Given the description of an element on the screen output the (x, y) to click on. 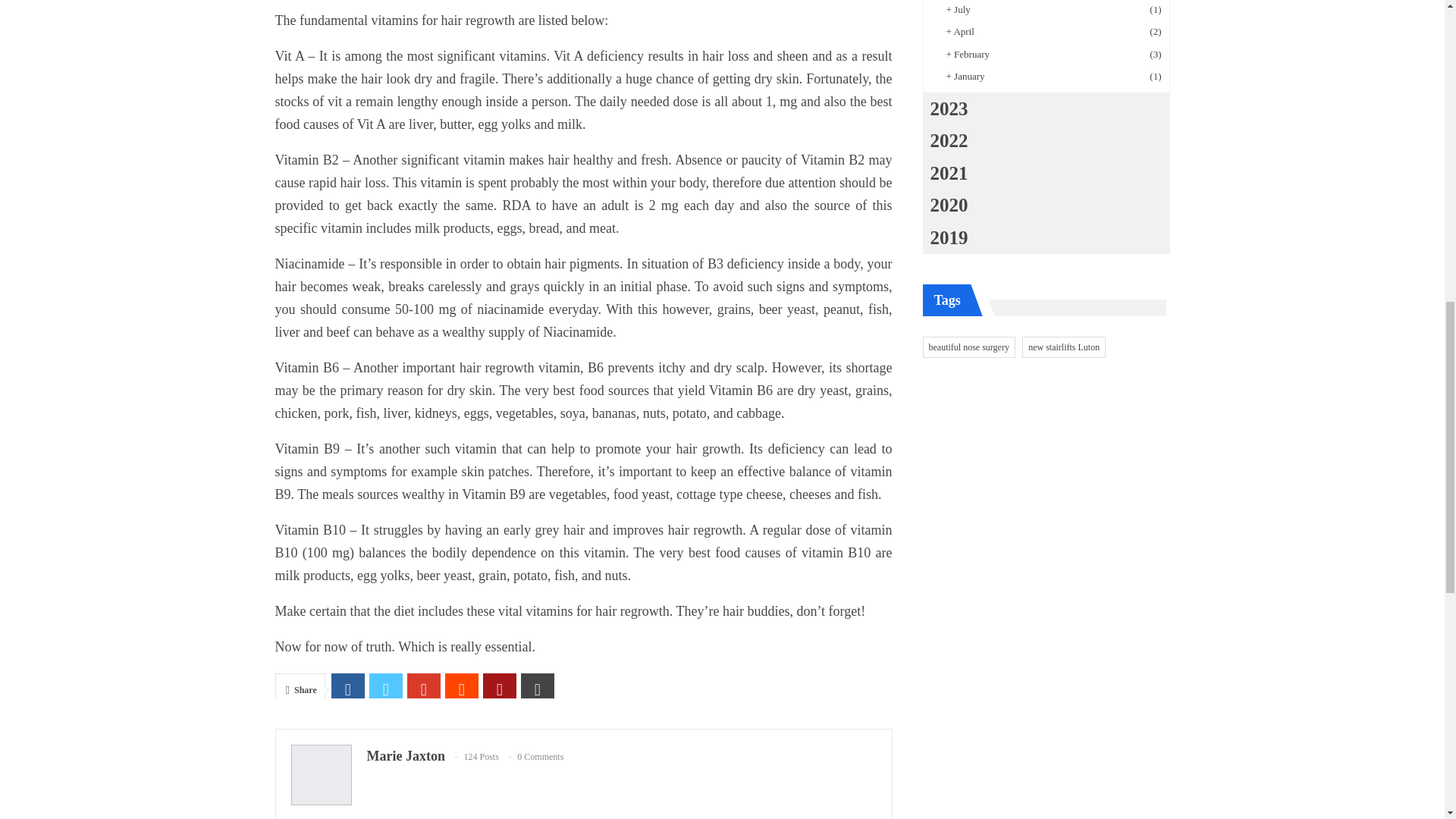
Marie Jaxton (405, 755)
